Given the description of an element on the screen output the (x, y) to click on. 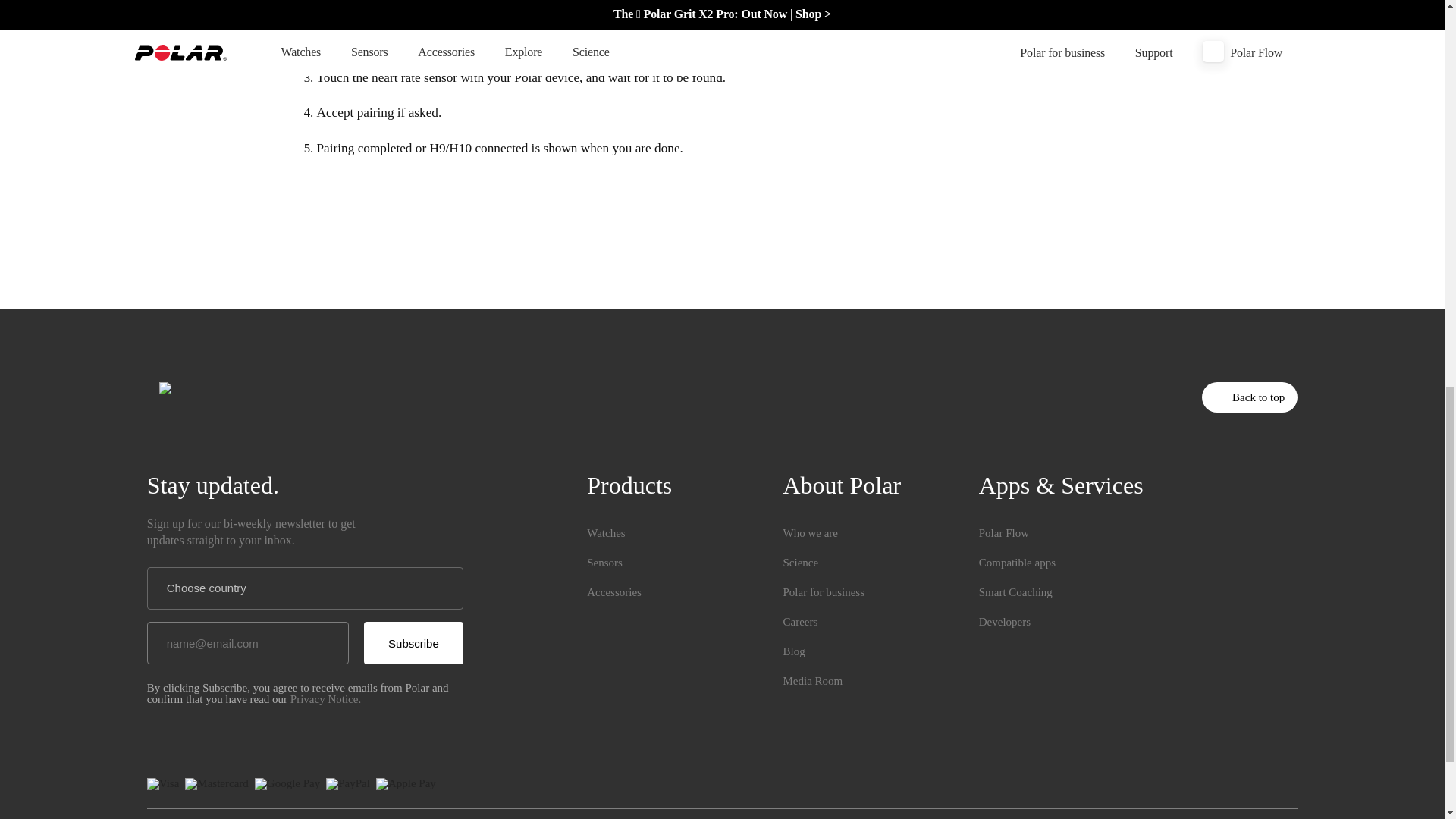
Subscribe (413, 642)
